Given the description of an element on the screen output the (x, y) to click on. 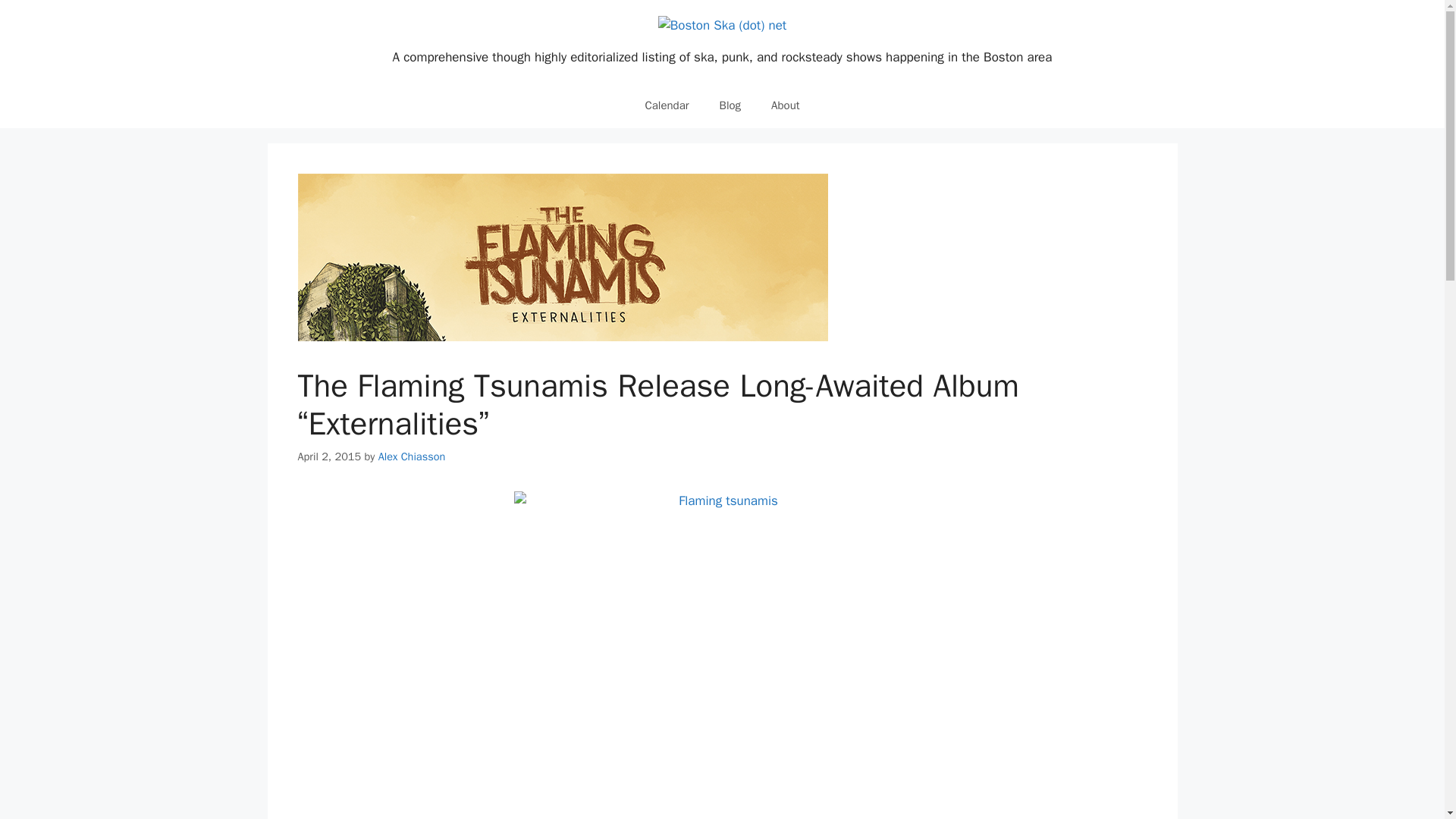
Calendar (665, 104)
Blog (729, 104)
About (784, 104)
View all posts by Alex Chiasson (411, 456)
Alex Chiasson (411, 456)
